Given the description of an element on the screen output the (x, y) to click on. 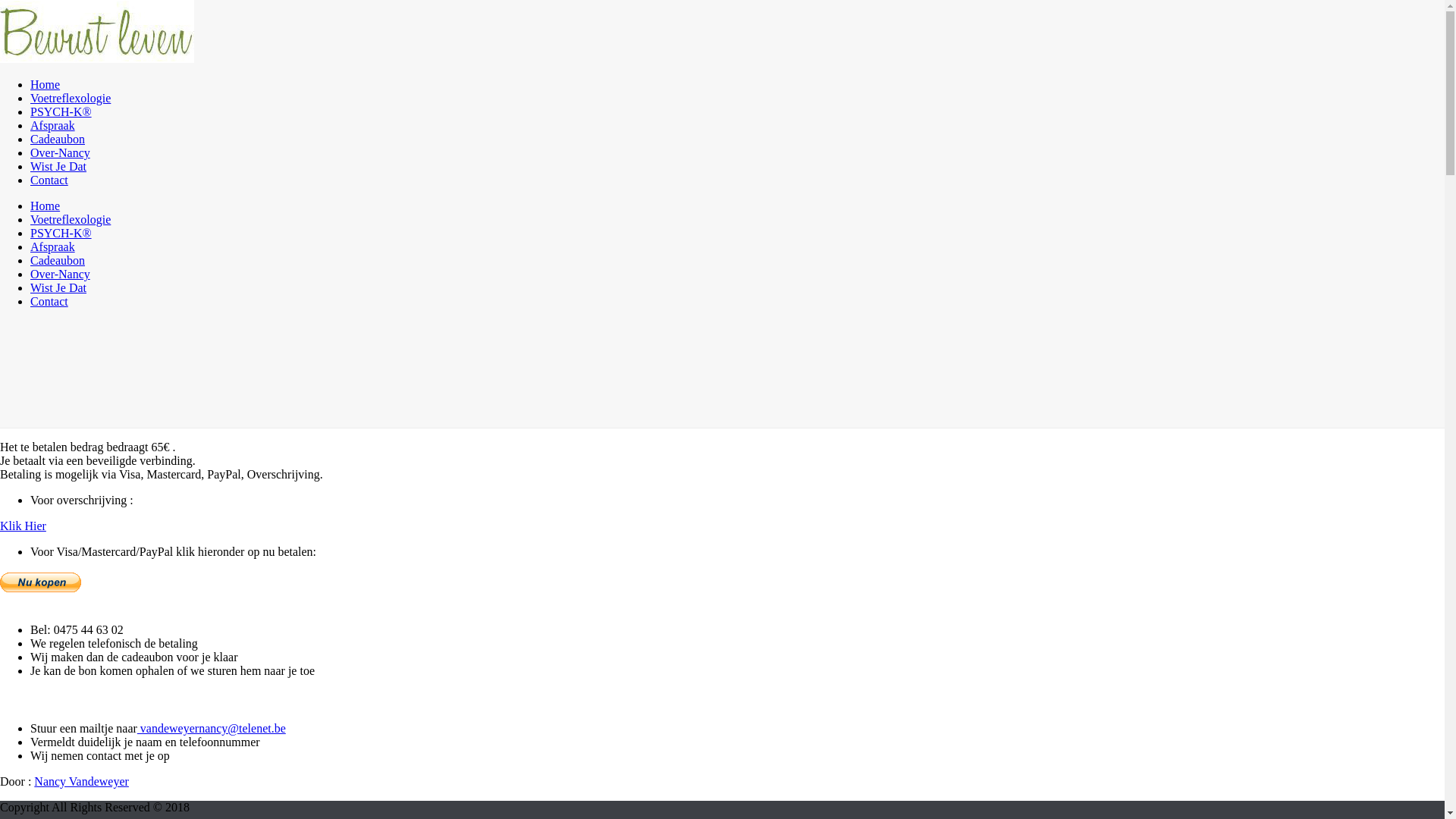
Over-Nancy Element type: text (60, 152)
Home Element type: text (44, 205)
Voetreflexologie Element type: text (70, 219)
Wist Je Dat Element type: text (58, 166)
vandeweyernancy@telenet.be Element type: text (211, 727)
Cadeaubon Element type: text (57, 260)
Contact Element type: text (49, 179)
Bewustleven Element type: hover (97, 58)
Wist Je Dat Element type: text (58, 287)
Contact Element type: text (49, 300)
Afspraak Element type: text (52, 125)
Over-Nancy Element type: text (60, 273)
Cadeaubon Element type: text (57, 138)
Voetreflexologie Element type: text (70, 97)
Afspraak Element type: text (52, 246)
Home Element type: text (44, 84)
Klik Hier Element type: text (23, 525)
Nancy Vandeweyer Element type: text (81, 781)
Bewustleven De kwaliteit van je leven verhogen Element type: hover (97, 31)
